Given the description of an element on the screen output the (x, y) to click on. 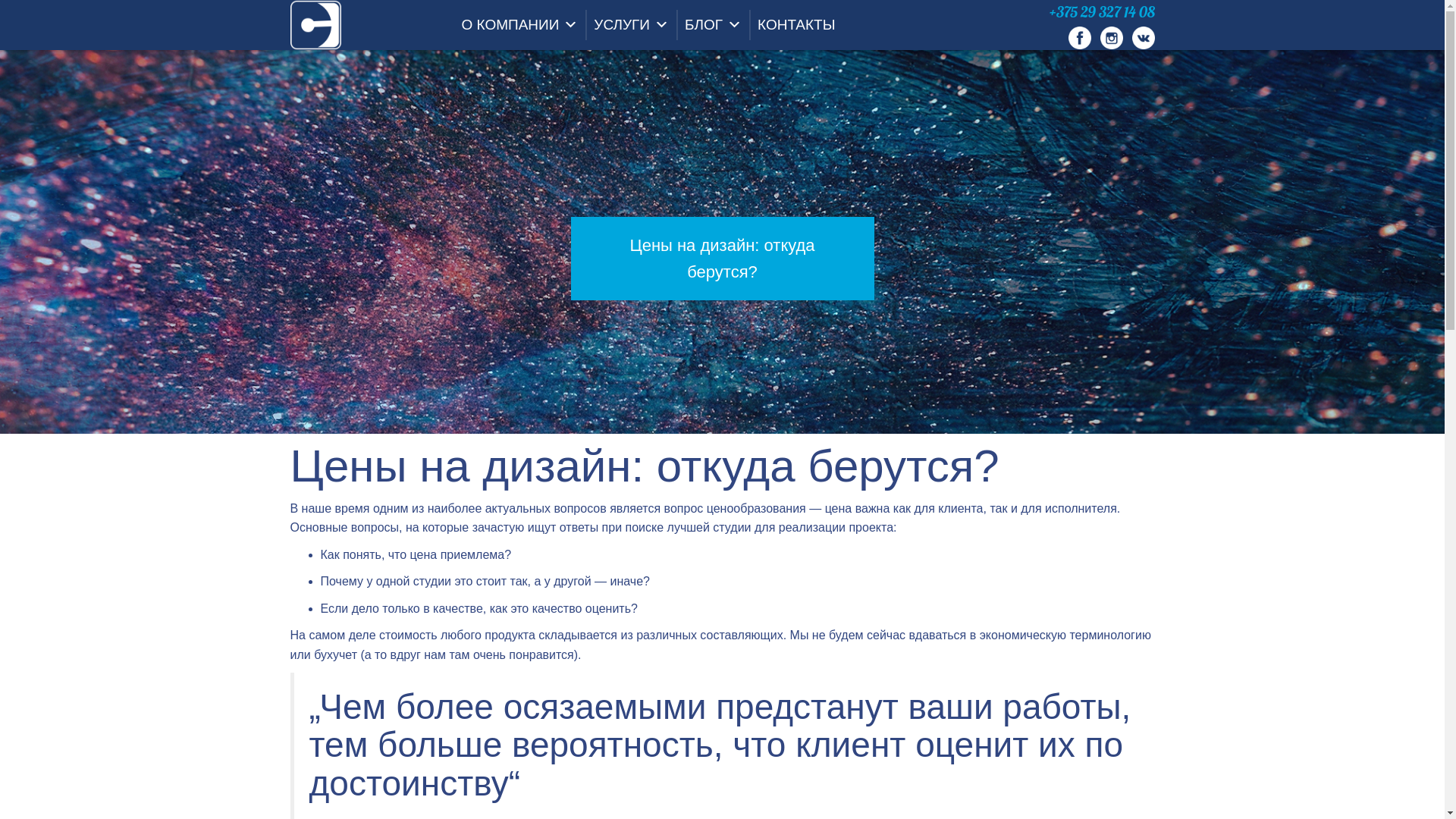
+375 29 327 14 08 Element type: text (1101, 11)
